Given the description of an element on the screen output the (x, y) to click on. 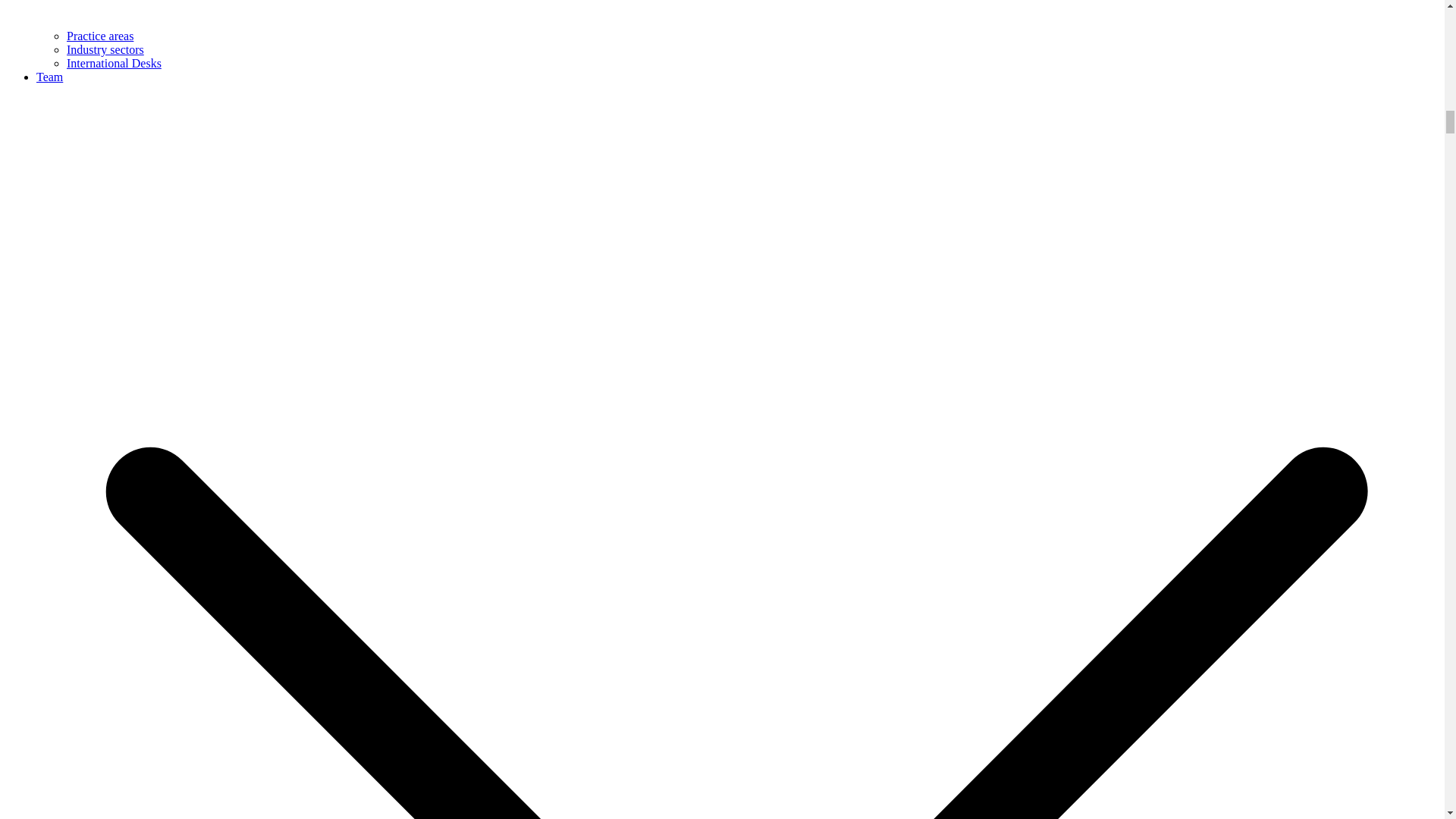
International Desks (113, 62)
Practice areas (99, 35)
Industry sectors (105, 49)
